Given the description of an element on the screen output the (x, y) to click on. 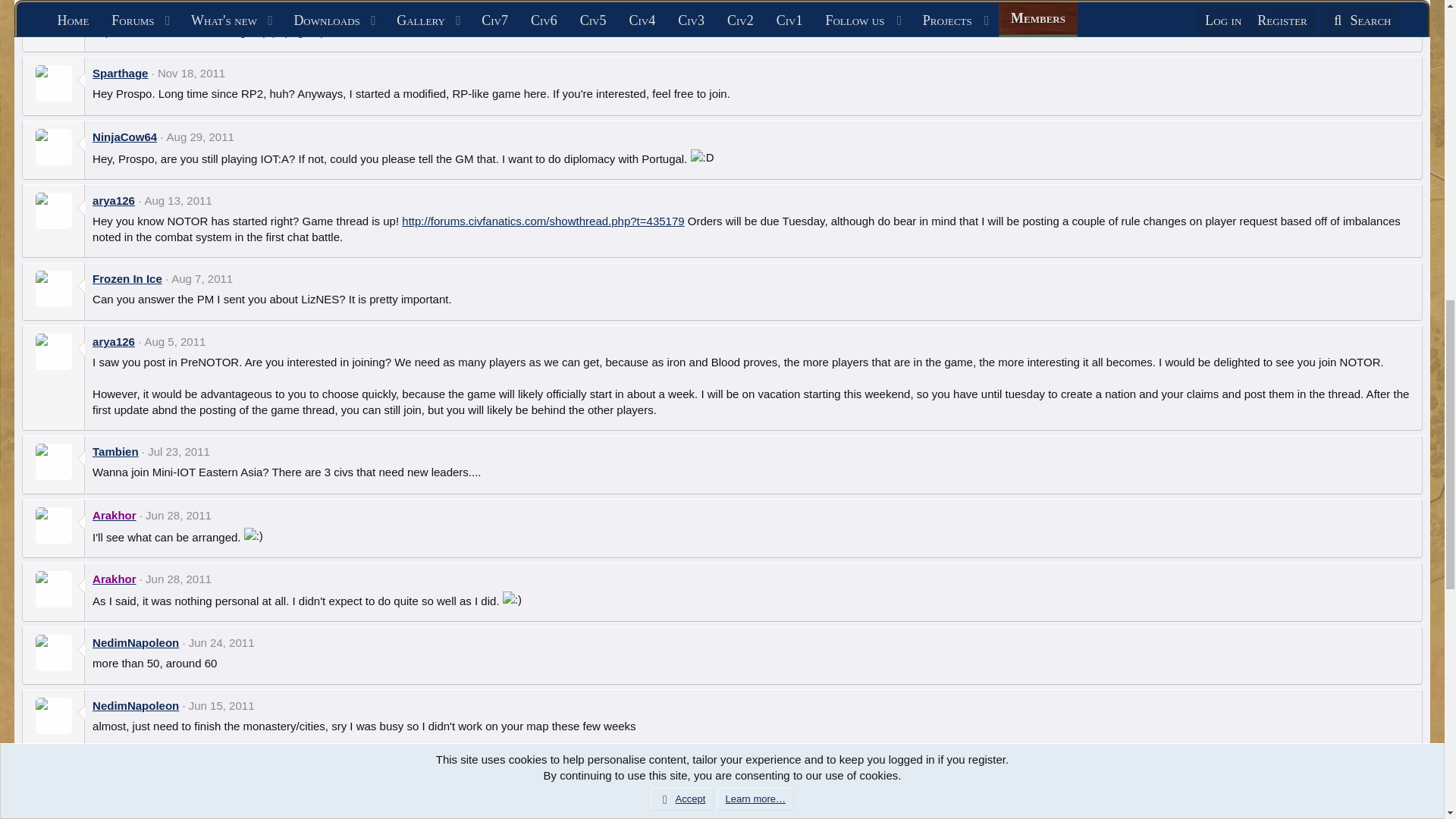
Aug 13, 2011 at 5:51 PM (177, 200)
Mar 17, 2012 at 3:41 AM (164, 0)
Aug 29, 2011 at 3:01 AM (200, 136)
Big Grin    :D (701, 157)
Aug 5, 2011 at 7:31 PM (174, 341)
Jun 28, 2011 at 4:09 PM (178, 514)
Aug 7, 2011 at 9:01 PM (201, 278)
Nov 18, 2011 at 7:10 PM (191, 72)
Jul 23, 2011 at 3:20 PM (178, 451)
